Given the description of an element on the screen output the (x, y) to click on. 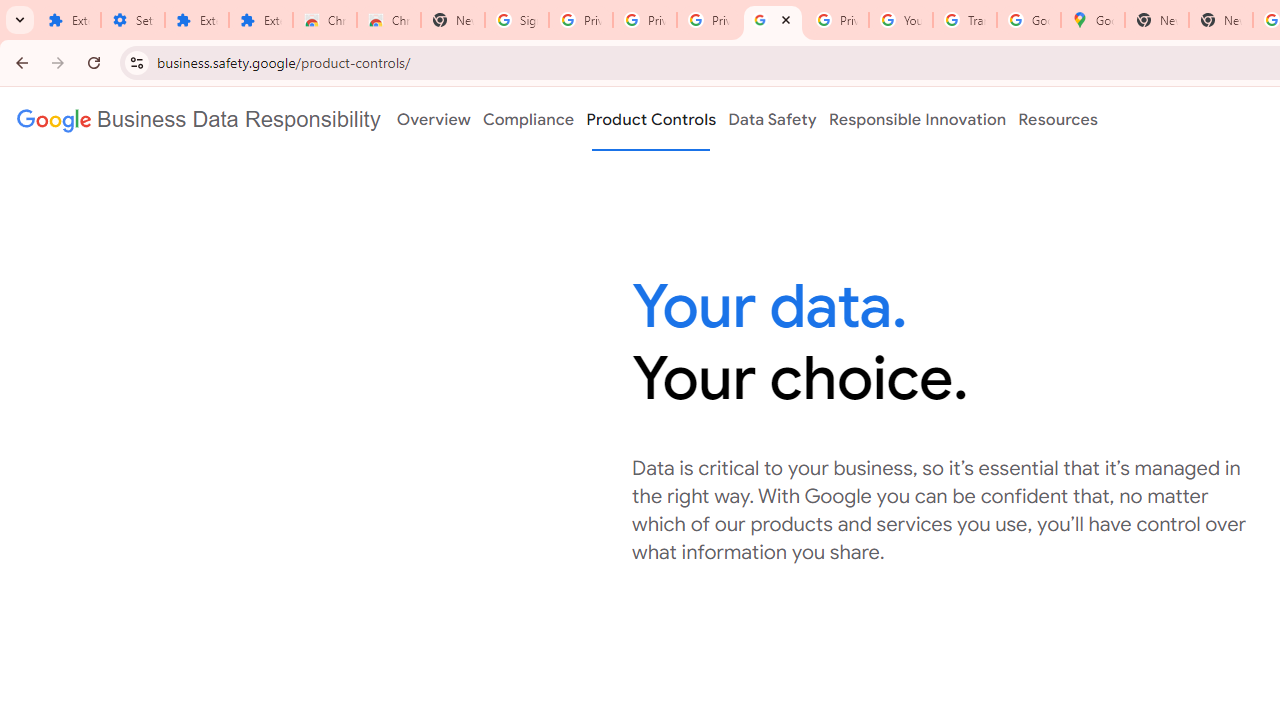
Chrome Web Store (325, 20)
